Given the description of an element on the screen output the (x, y) to click on. 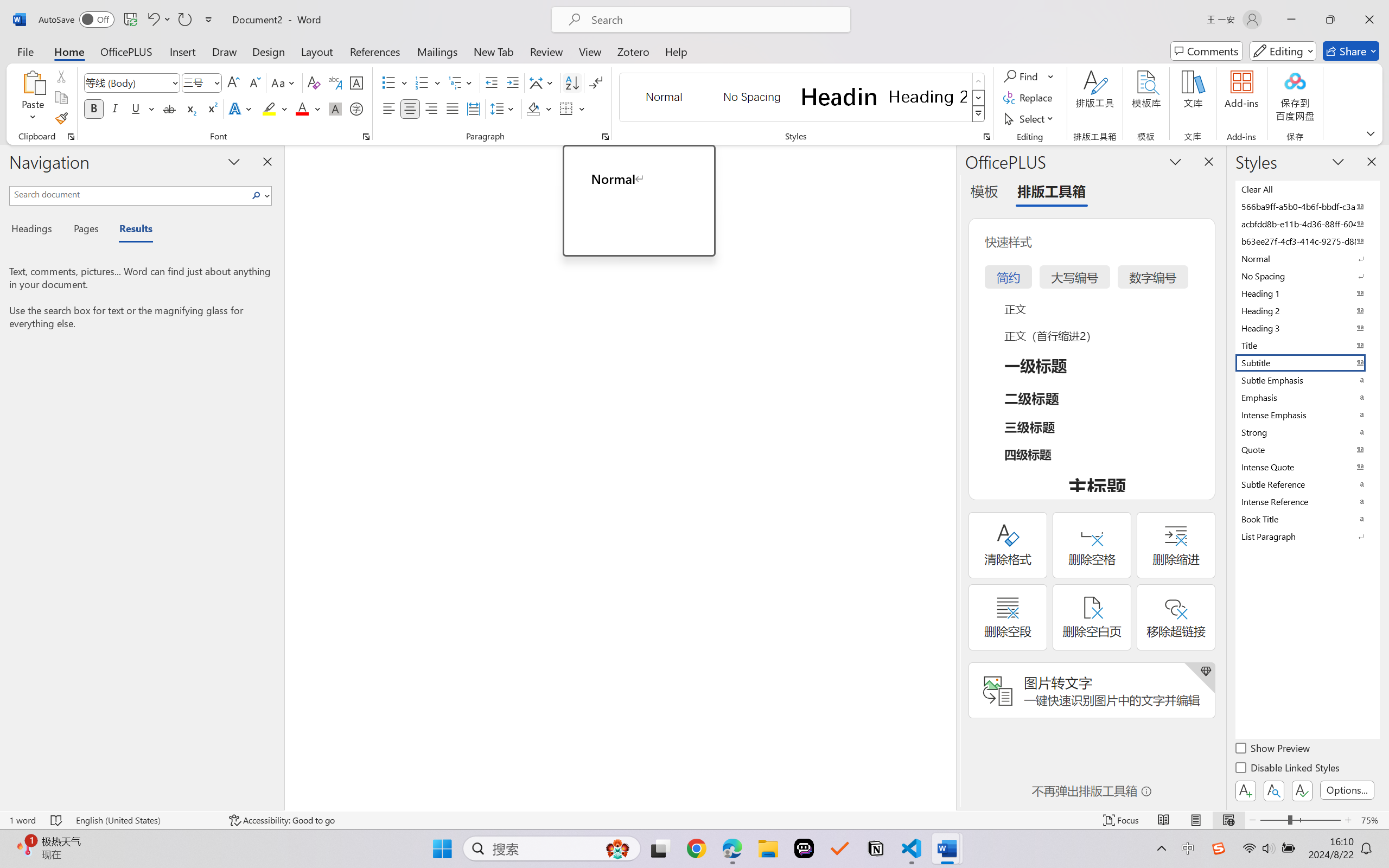
Mailings (437, 51)
Quote (1306, 449)
Borders (566, 108)
Layout (316, 51)
Intense Quote (1306, 466)
Search document (128, 193)
Superscript (210, 108)
List Paragraph (1306, 536)
Paragraph... (605, 136)
Borders (571, 108)
Word Count 1 word (21, 819)
Heading 3 (1306, 327)
